Given the description of an element on the screen output the (x, y) to click on. 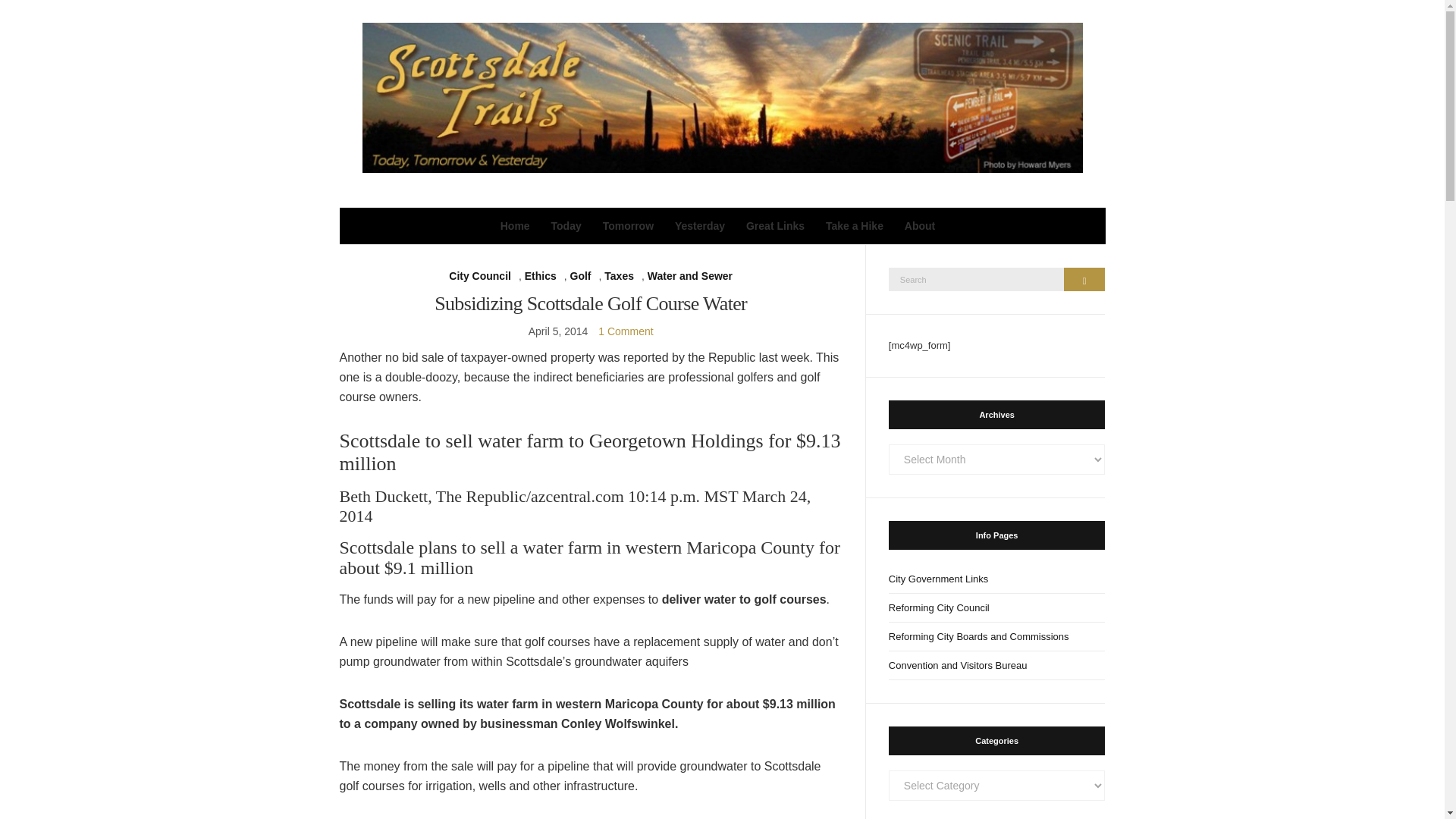
City Council (479, 276)
Ethics (540, 276)
Taxes (618, 276)
Search (1084, 279)
Tomorrow (627, 226)
Take a Hike (854, 226)
Golf (580, 276)
Yesterday (700, 226)
Great Links (775, 226)
Today (565, 226)
About (919, 226)
1 Comment (625, 331)
Home (514, 226)
Water and Sewer (689, 276)
